Given the description of an element on the screen output the (x, y) to click on. 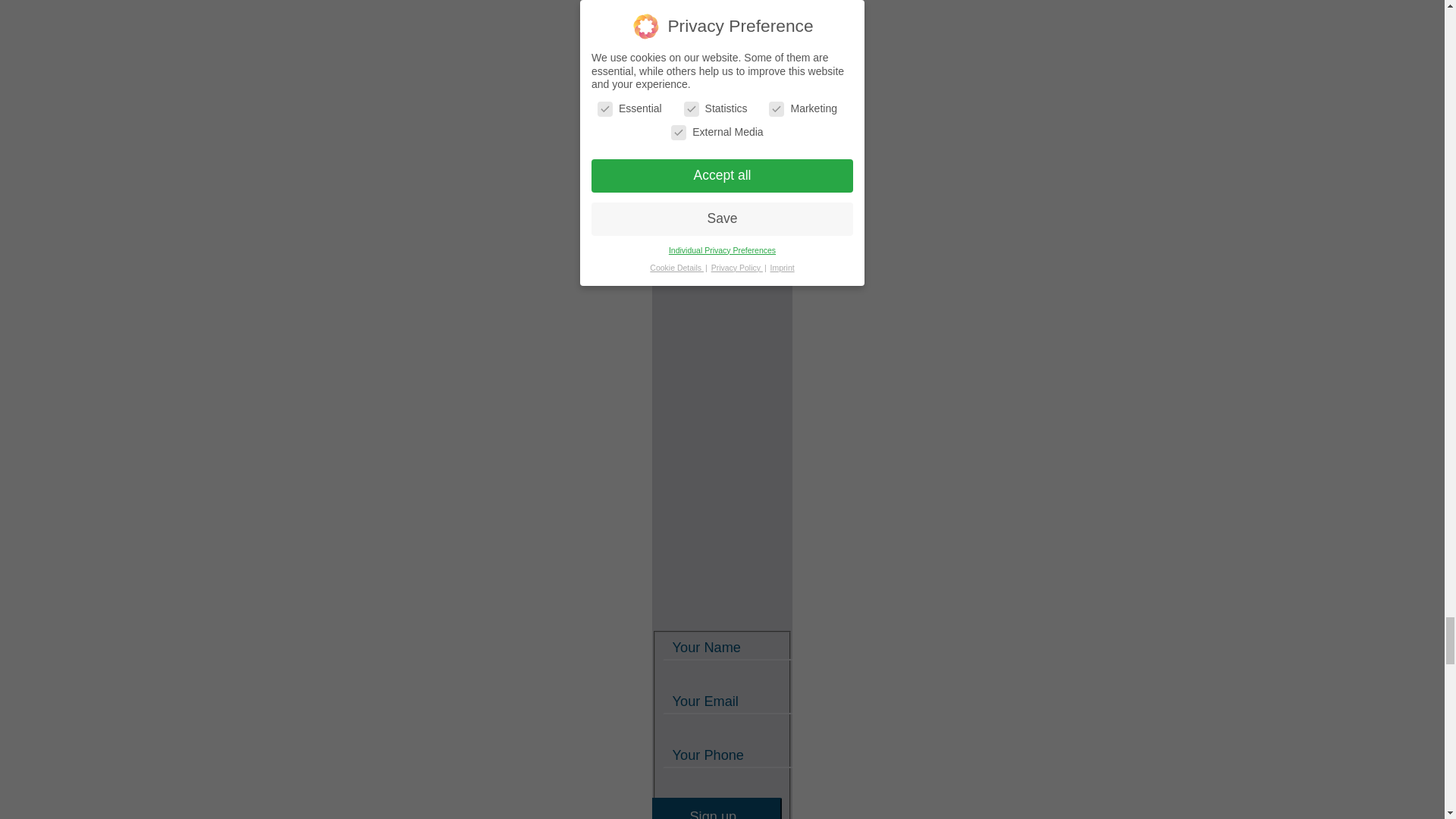
Sign up (712, 808)
